Given the description of an element on the screen output the (x, y) to click on. 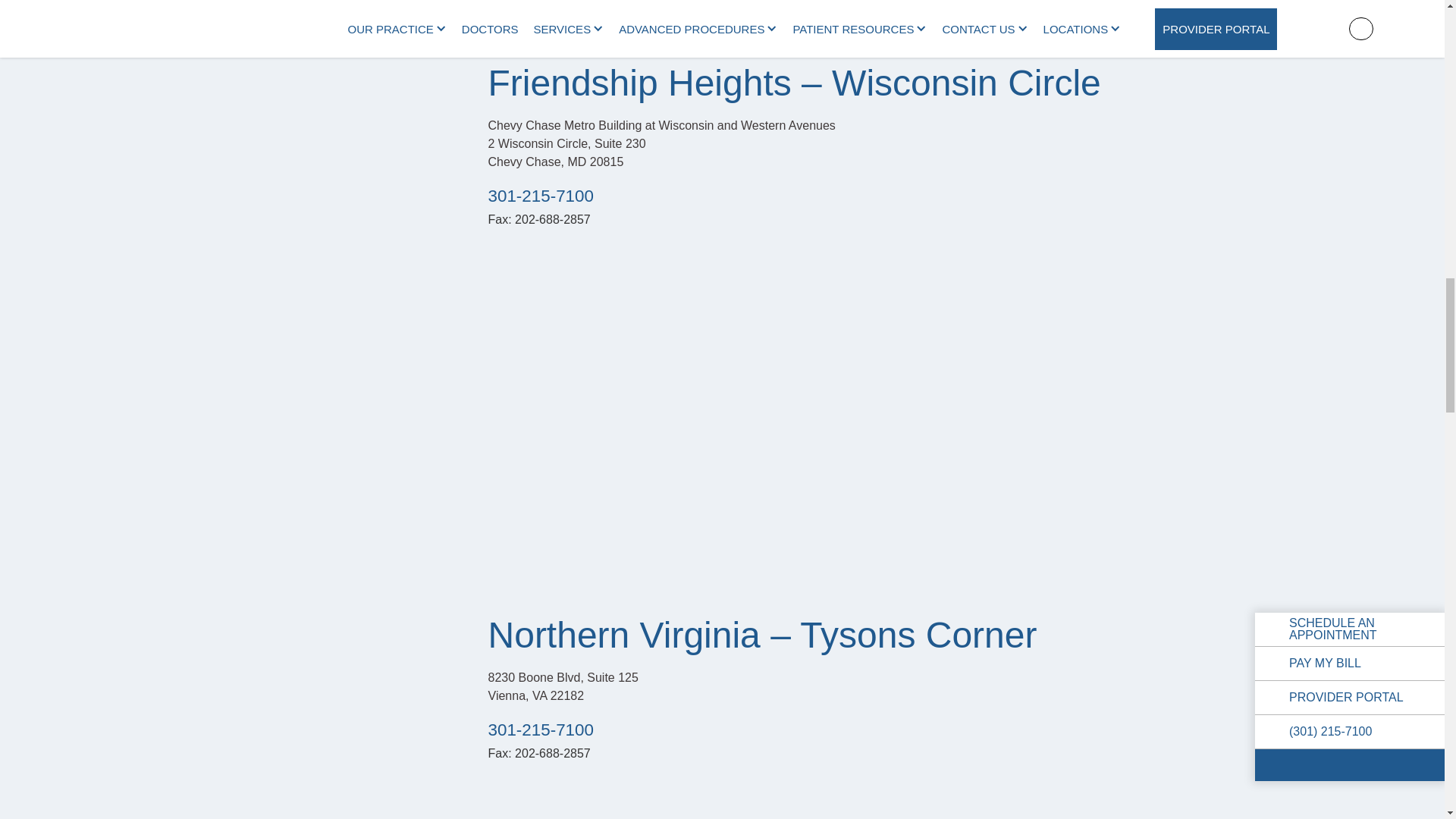
Google Maps (875, 7)
Google maps (875, 803)
